Given the description of an element on the screen output the (x, y) to click on. 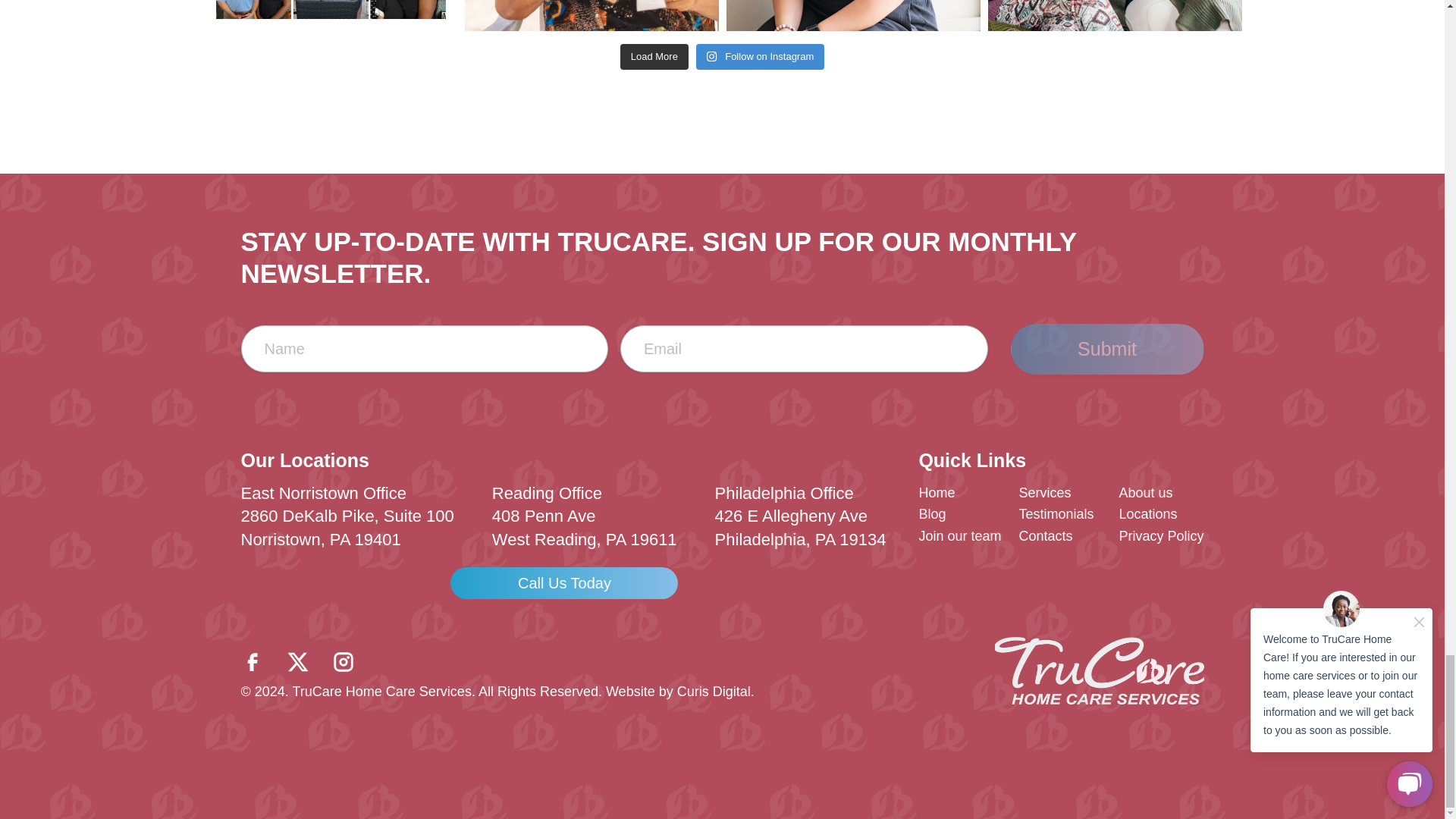
Submit (1107, 348)
Home (936, 492)
Services (1043, 492)
instagram (343, 658)
Follow on Instagram (759, 56)
facebook (252, 658)
twitter (297, 658)
Submit (1107, 348)
Load More (654, 56)
About us (1145, 492)
Blog (931, 513)
Call Us Today (563, 582)
